Given the description of an element on the screen output the (x, y) to click on. 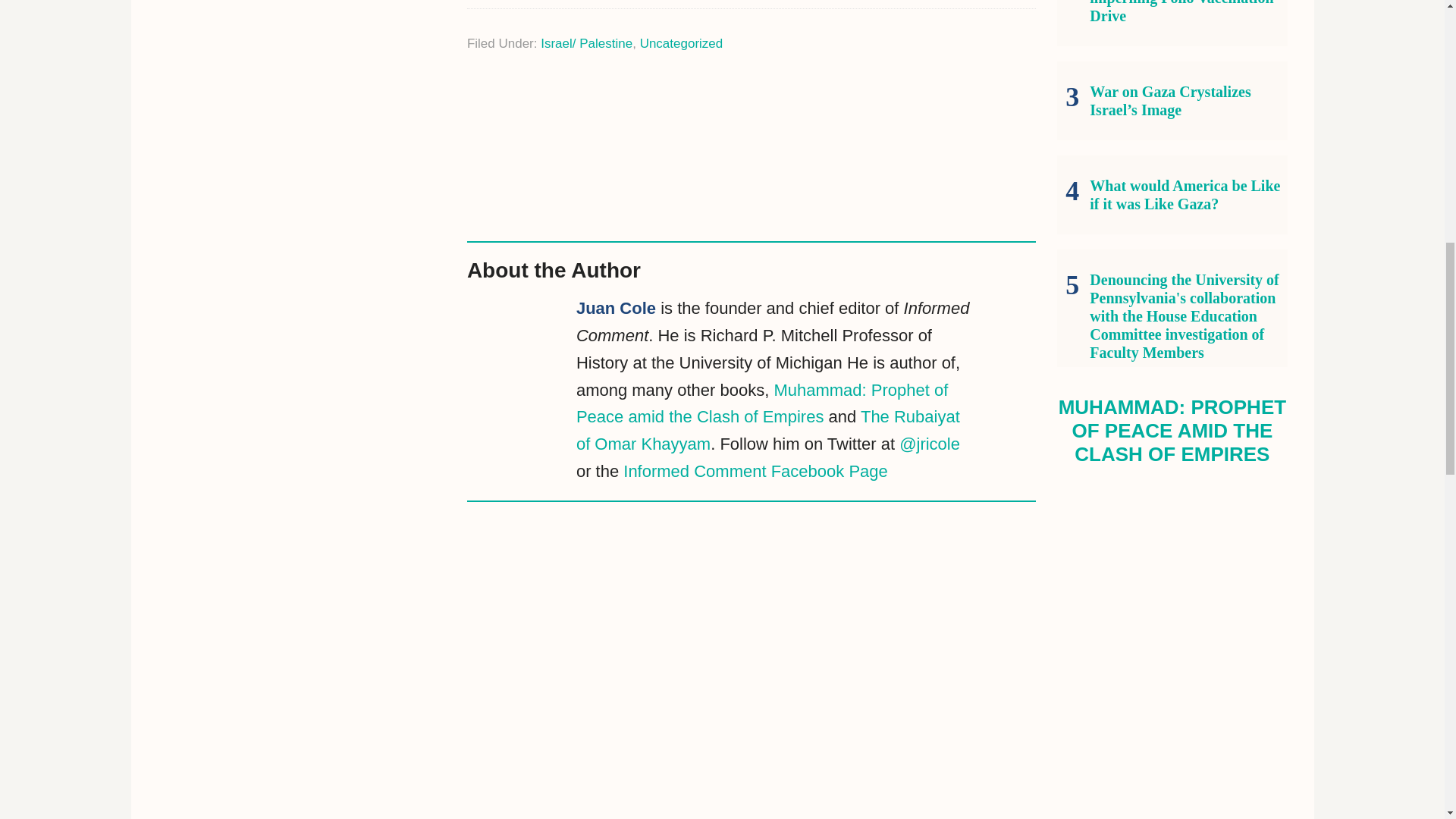
The Rubaiyat of Omar Khayyam (767, 430)
Muhammad: Prophet of Peace amid the Clash of Empires (761, 403)
Juan Cole (616, 307)
Uncategorized (681, 43)
Informed Comment Facebook Page (755, 470)
